Given the description of an element on the screen output the (x, y) to click on. 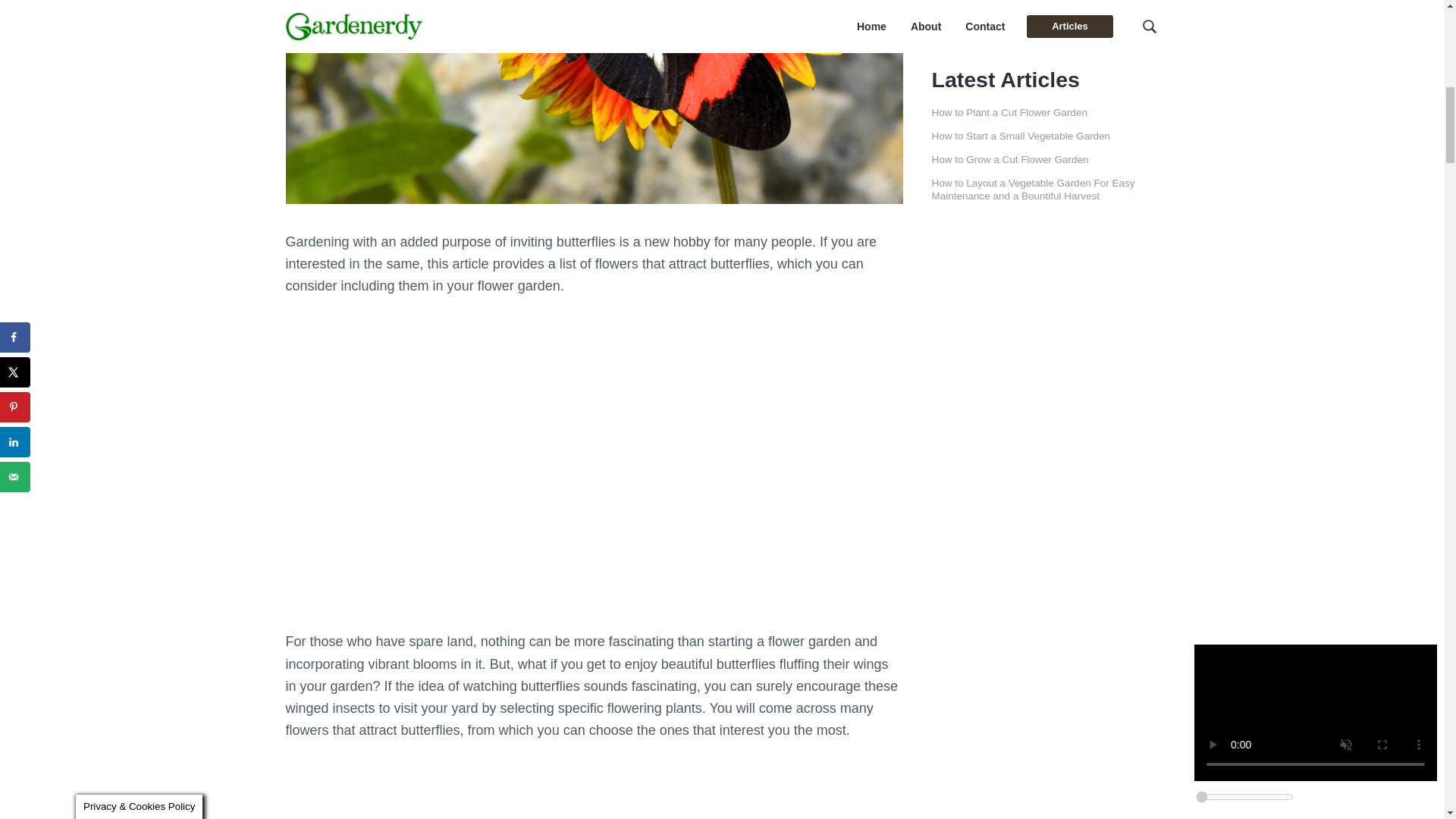
How to Start a Small Vegetable Garden (1020, 135)
How to Plant a Cut Flower Garden (1009, 112)
Landscaping (975, 9)
